Given the description of an element on the screen output the (x, y) to click on. 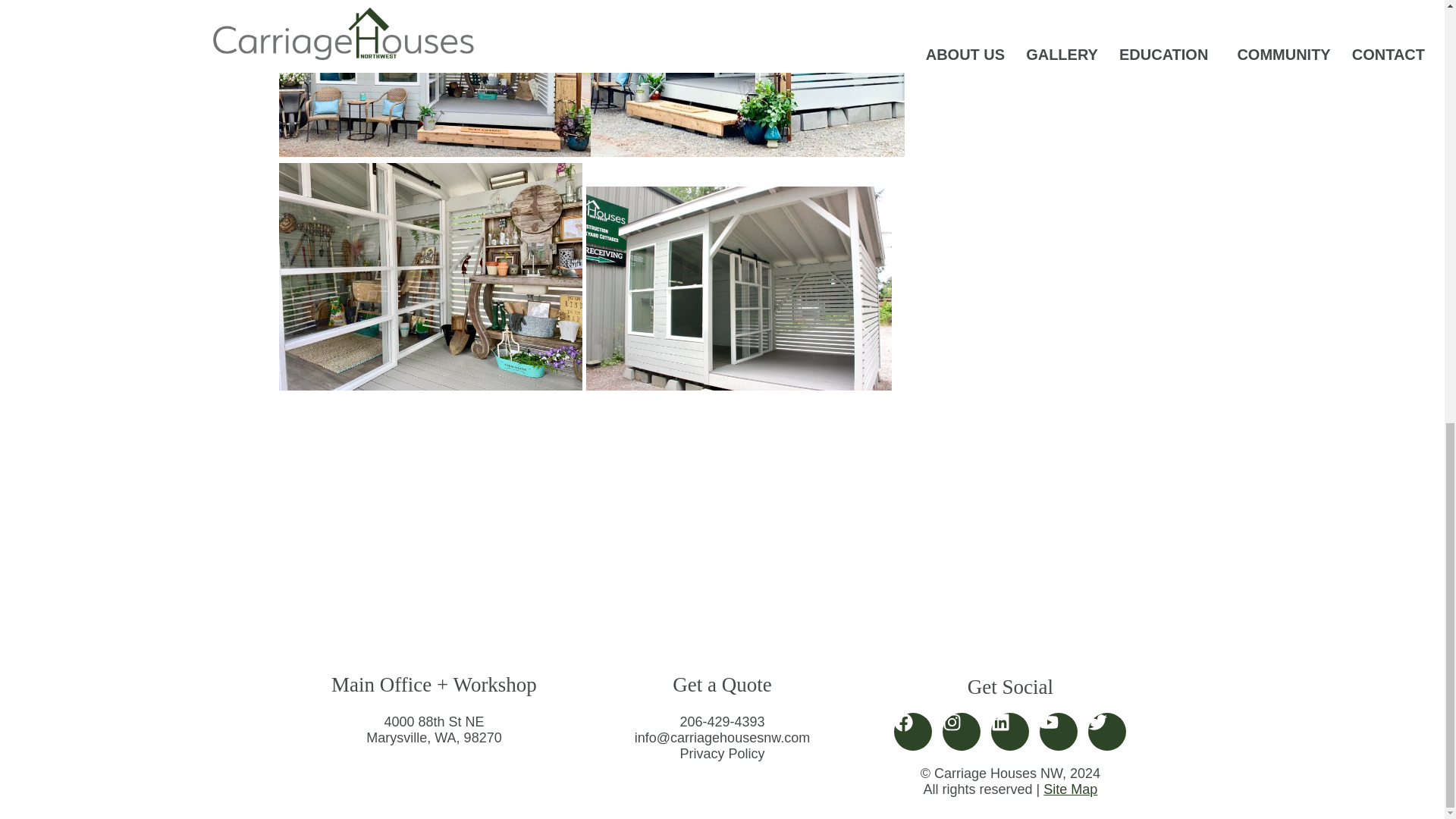
Privacy Policy (721, 753)
206-429-4393 (721, 721)
